Given the description of an element on the screen output the (x, y) to click on. 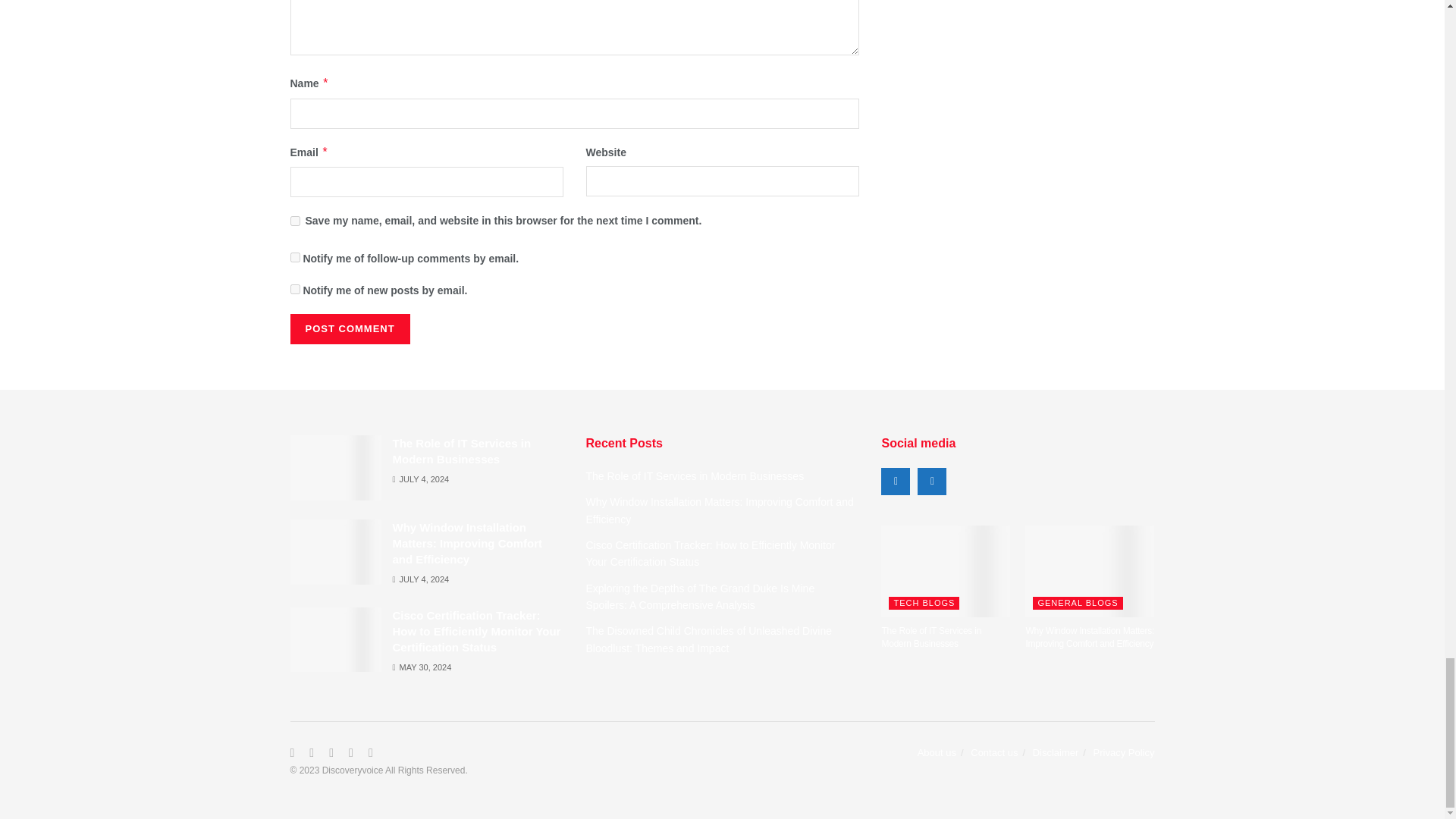
subscribe (294, 257)
subscribe (294, 289)
yes (294, 221)
Post Comment (349, 328)
